Given the description of an element on the screen output the (x, y) to click on. 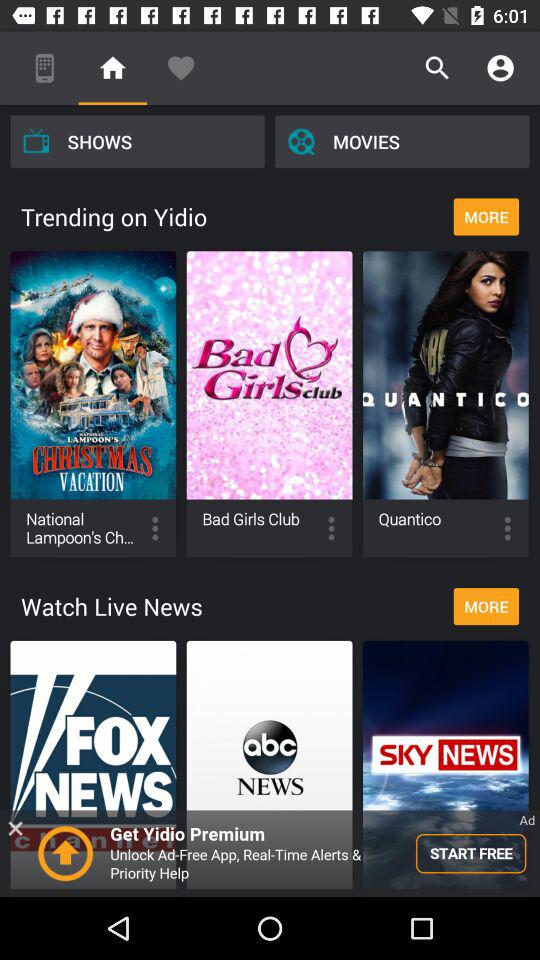
scroll to movies item (402, 141)
